Given the description of an element on the screen output the (x, y) to click on. 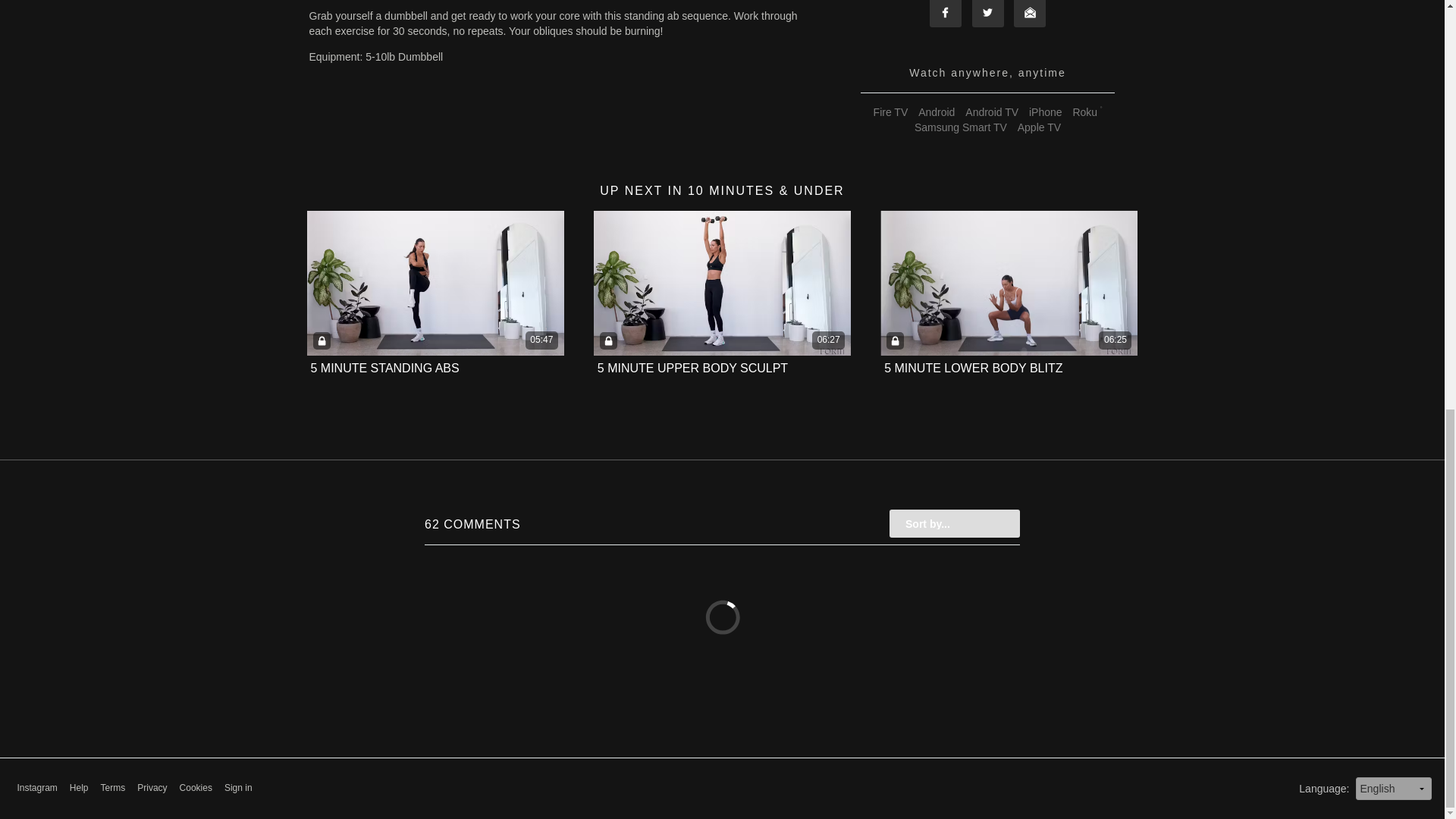
5 MINUTE LOWER BODY BLITZ (972, 367)
Fire TV (890, 111)
Twitter (988, 13)
Email (1029, 13)
05:47 (434, 282)
Apple TV (1038, 127)
5 MINUTE STANDING ABS (385, 368)
Facebook (945, 13)
Android (936, 111)
5 MINUTE UPPER BODY SCULPT (691, 367)
iPhone (1045, 111)
5 MINUTE STANDING ABS (385, 367)
Android TV (991, 111)
Samsung Smart TV (960, 127)
